Given the description of an element on the screen output the (x, y) to click on. 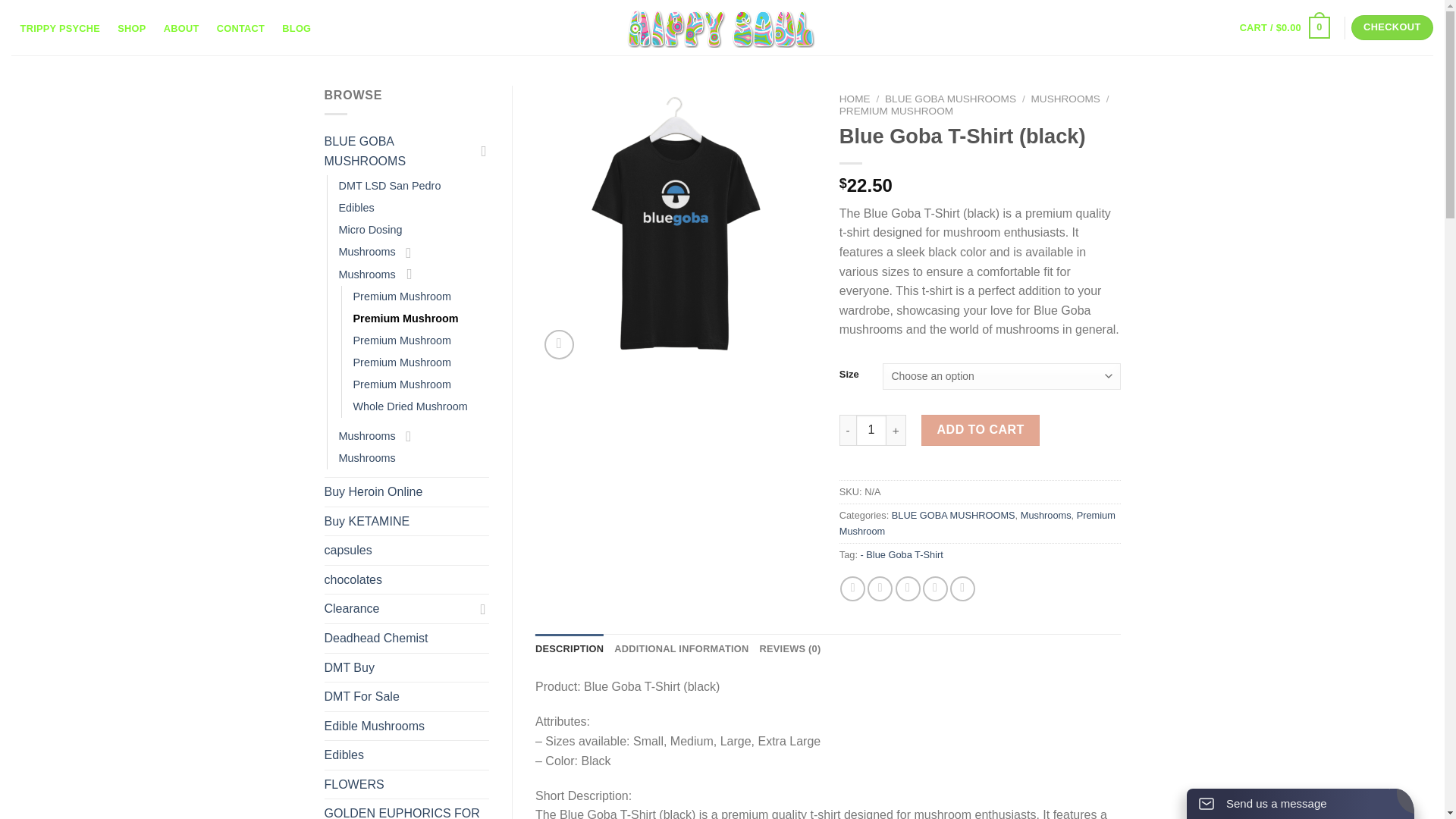
CONTACT (240, 28)
Premium Mushroom (402, 362)
Micro Dosing (369, 229)
Premium Mushroom (402, 384)
chocolates (406, 579)
Mushrooms (365, 436)
Edibles (355, 208)
Mushrooms (365, 251)
Cart (1284, 28)
Pin on Pinterest (935, 588)
Trippy Psyche - Dmt Where To Buy (721, 27)
Qty (871, 429)
Premium Mushroom (402, 341)
Share on Twitter (879, 588)
Zoom (558, 344)
